Given the description of an element on the screen output the (x, y) to click on. 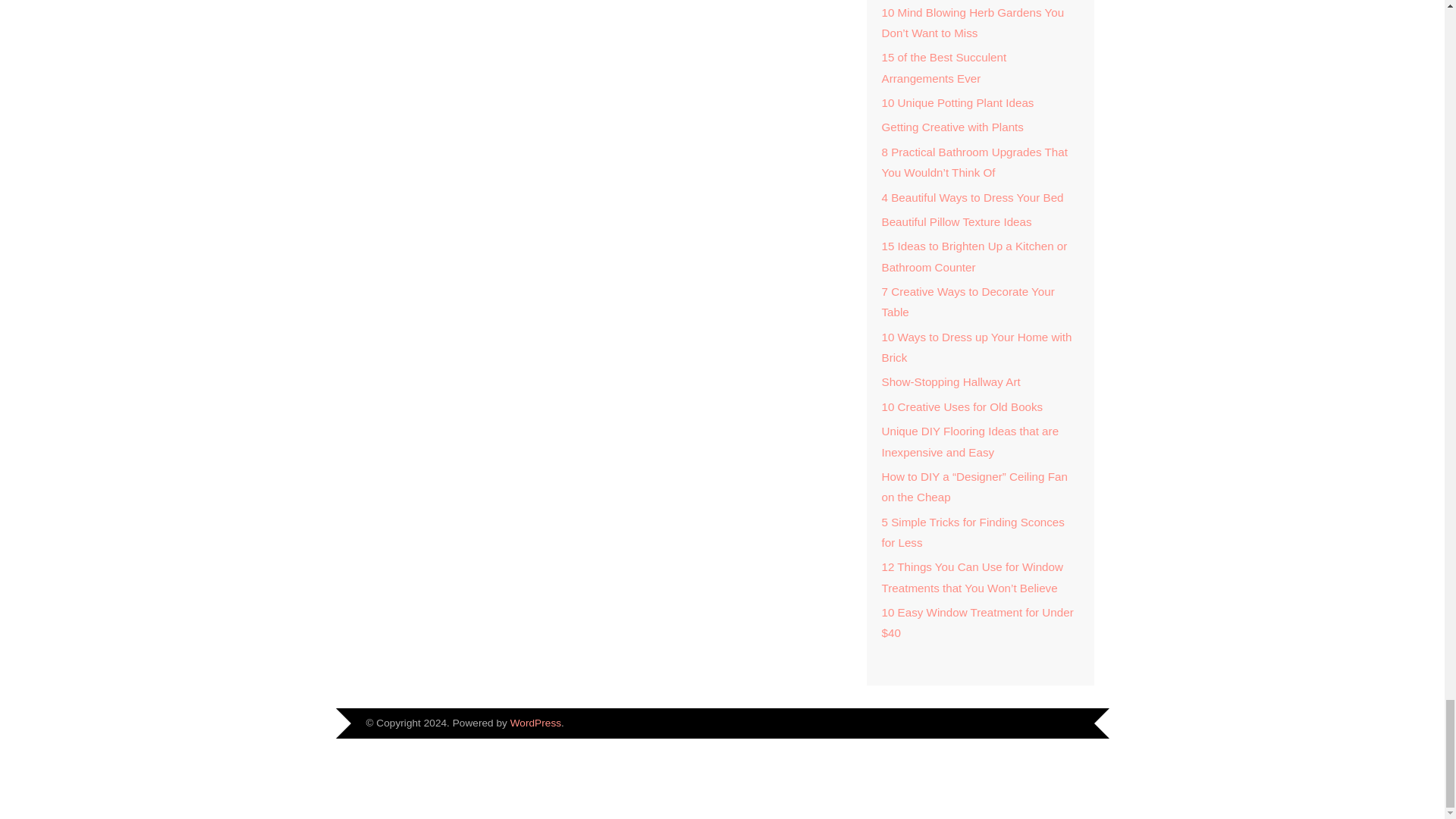
Theme designed by BluChic (1057, 725)
